Given the description of an element on the screen output the (x, y) to click on. 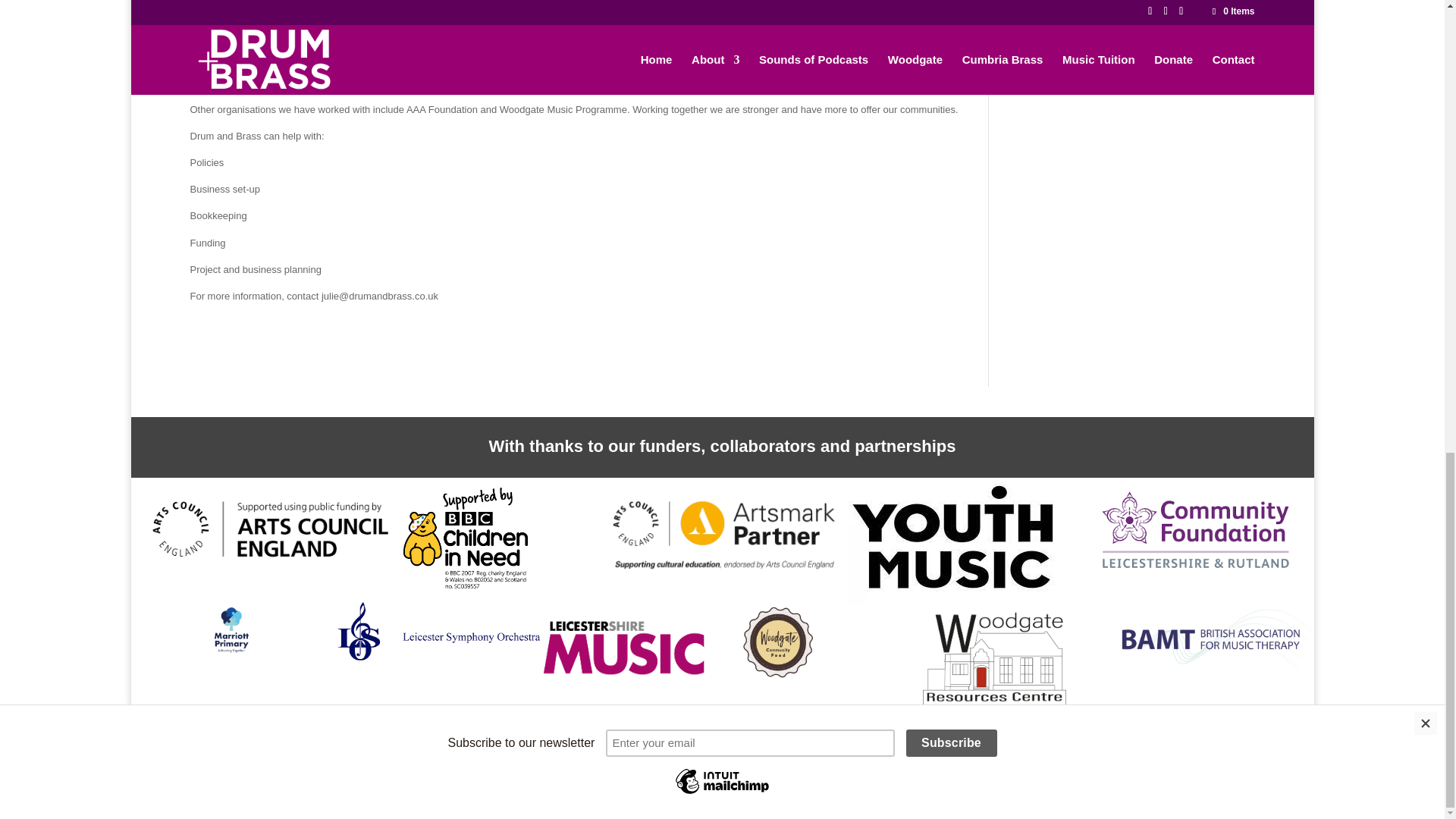
LRCF (1195, 529)
cropped-logo-1 (777, 642)
'Supported By' English TM - Standard (465, 537)
BAMT LOGO (1214, 637)
Follow on Facebook (1070, 774)
LSO (450, 630)
Follow on X (1101, 774)
arts council (270, 528)
Marriott School (241, 639)
Follow on Instagram (1130, 774)
Screenshot 2022-03-21 at 20.24.50 (726, 534)
FORMS (436, 762)
